Given the description of an element on the screen output the (x, y) to click on. 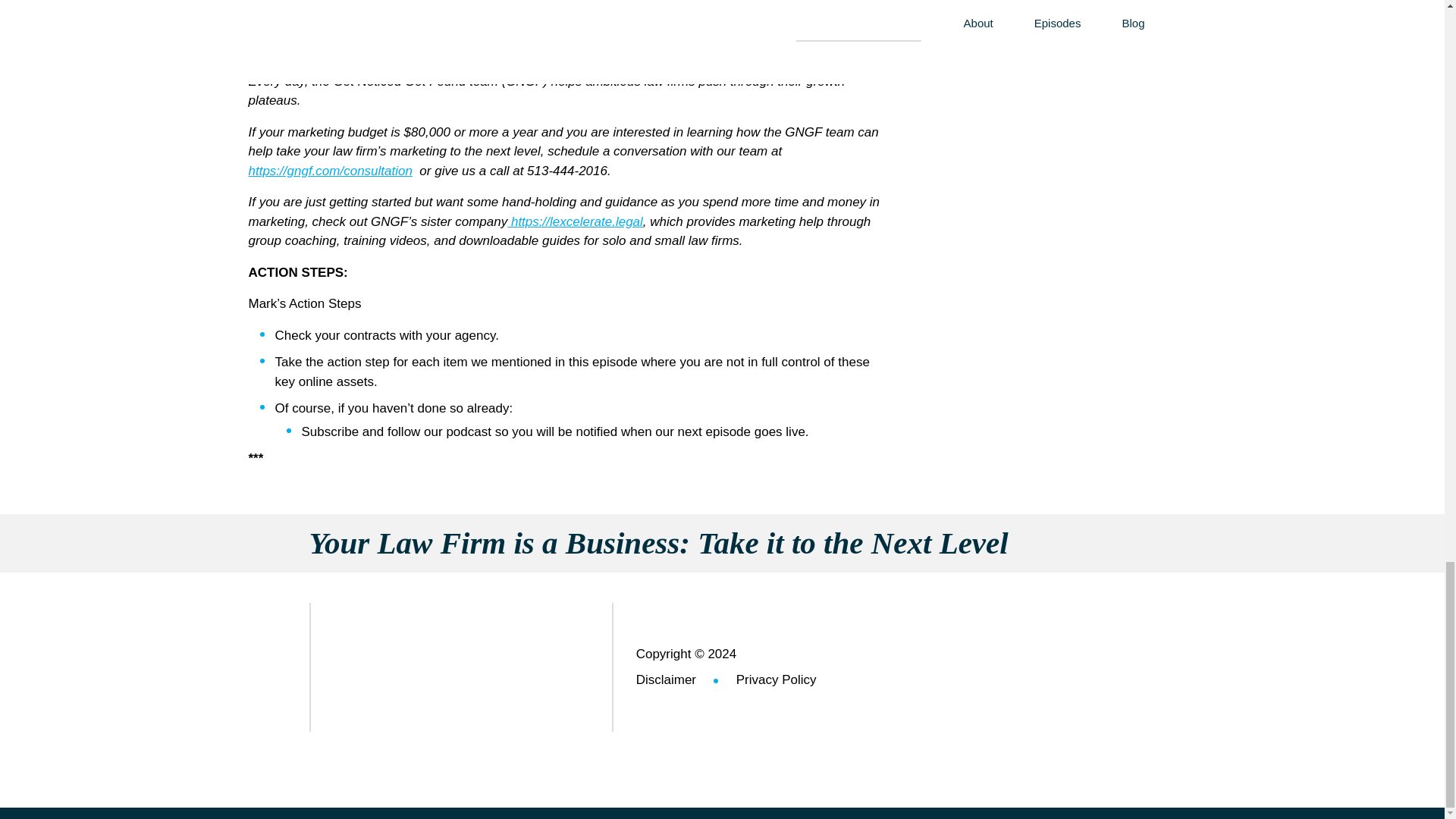
Disclaimer (665, 676)
Privacy Policy (758, 676)
Your Law Firm is a Business: Take it to the Next Level (721, 542)
